Given the description of an element on the screen output the (x, y) to click on. 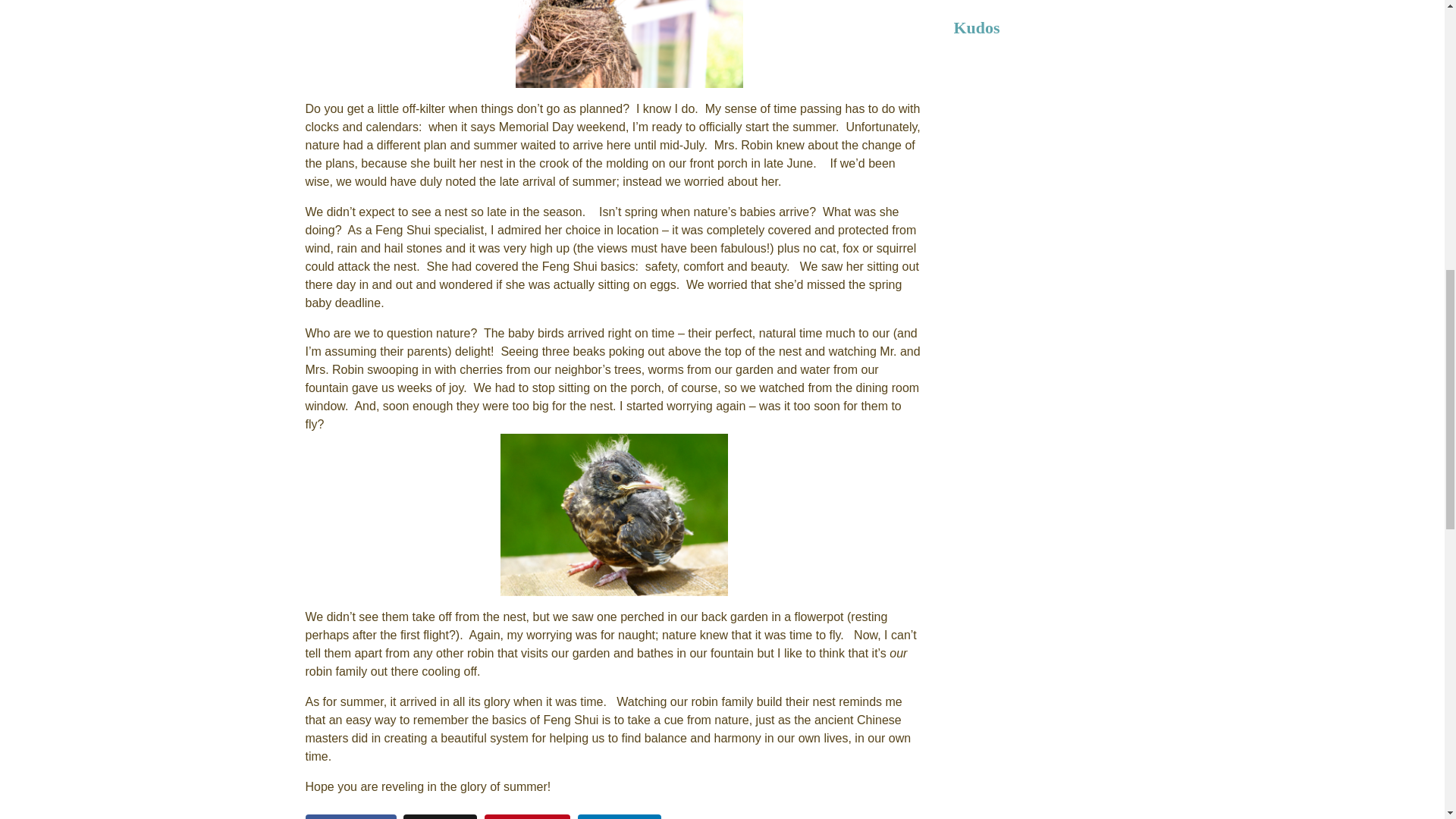
A young Robin about to take his first bath (614, 515)
Facebook (350, 816)
Baby Robin (628, 43)
